Given the description of an element on the screen output the (x, y) to click on. 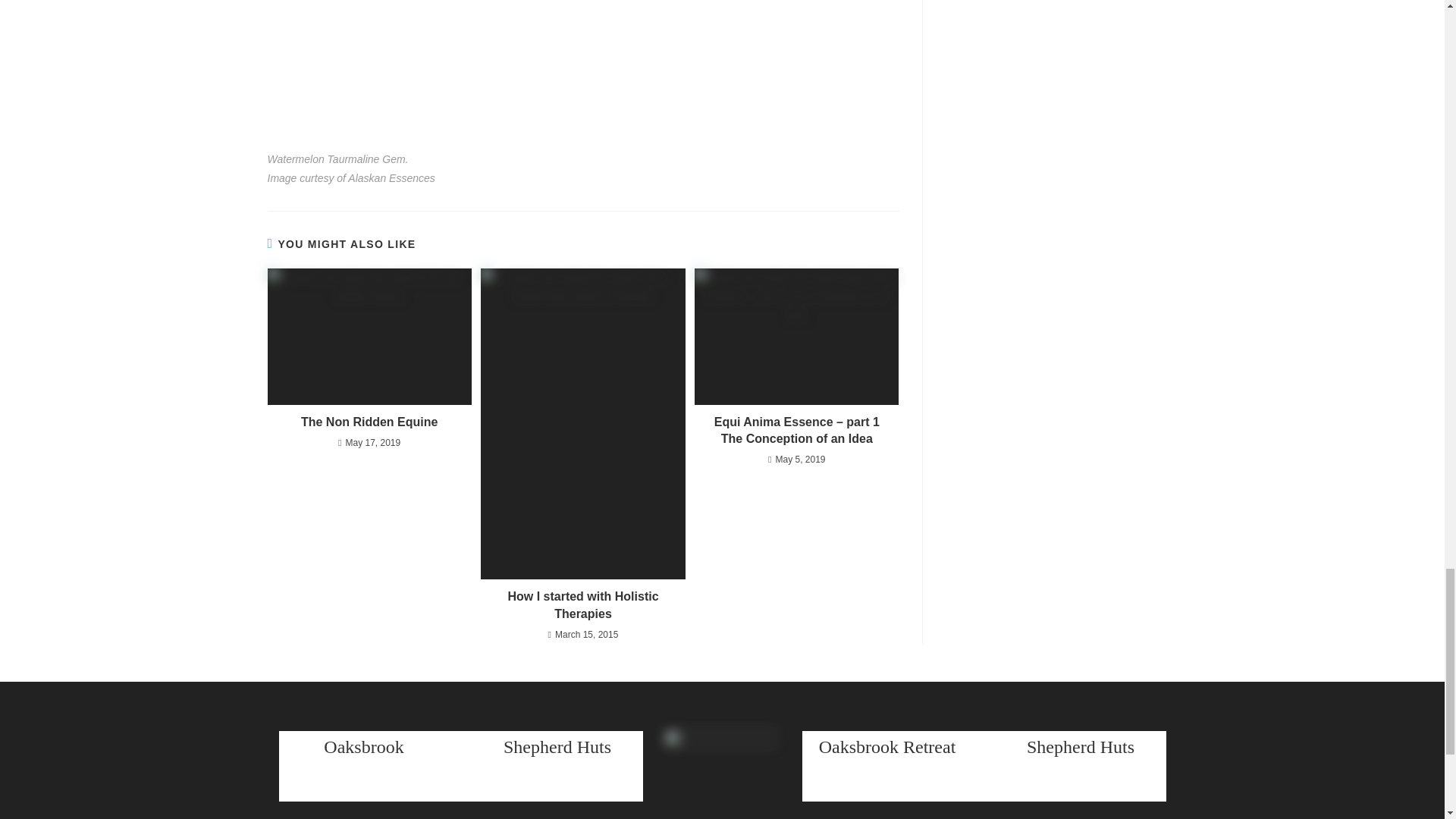
Oaksbrook Logo Dark (721, 775)
